Given the description of an element on the screen output the (x, y) to click on. 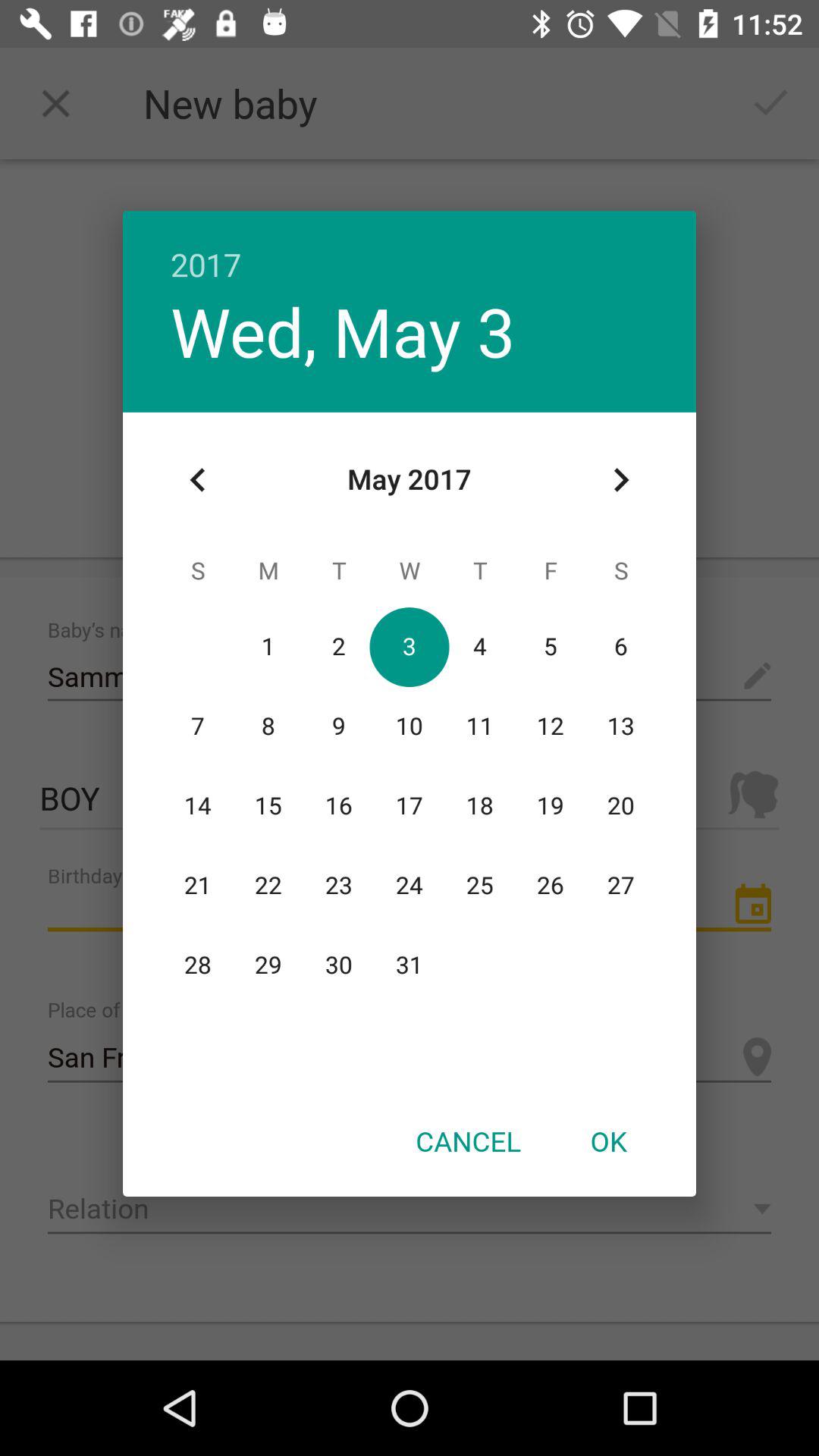
choose the item below wed, may 3 item (197, 479)
